Given the description of an element on the screen output the (x, y) to click on. 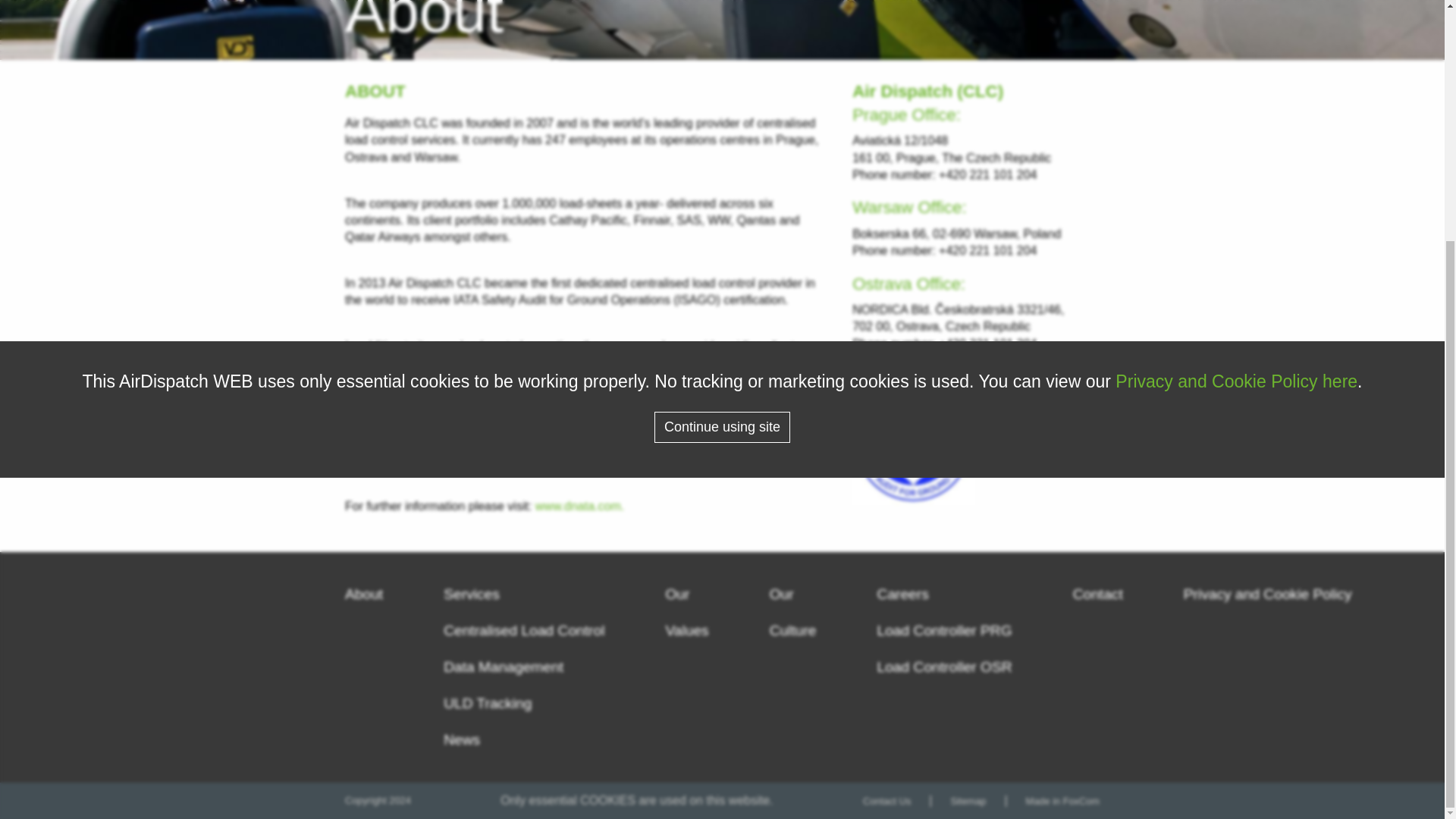
Services (471, 593)
Contact (1097, 593)
ULD Tracking (487, 703)
www.dnata.com. (579, 505)
Privacy and Cookie Policy (1267, 593)
Load Controller PRG (944, 630)
Careers (902, 593)
Centralised Load Control (524, 630)
About (363, 593)
News (462, 739)
Load Controller OSR (944, 666)
Our Culture (793, 612)
Data Management (503, 666)
